Given the description of an element on the screen output the (x, y) to click on. 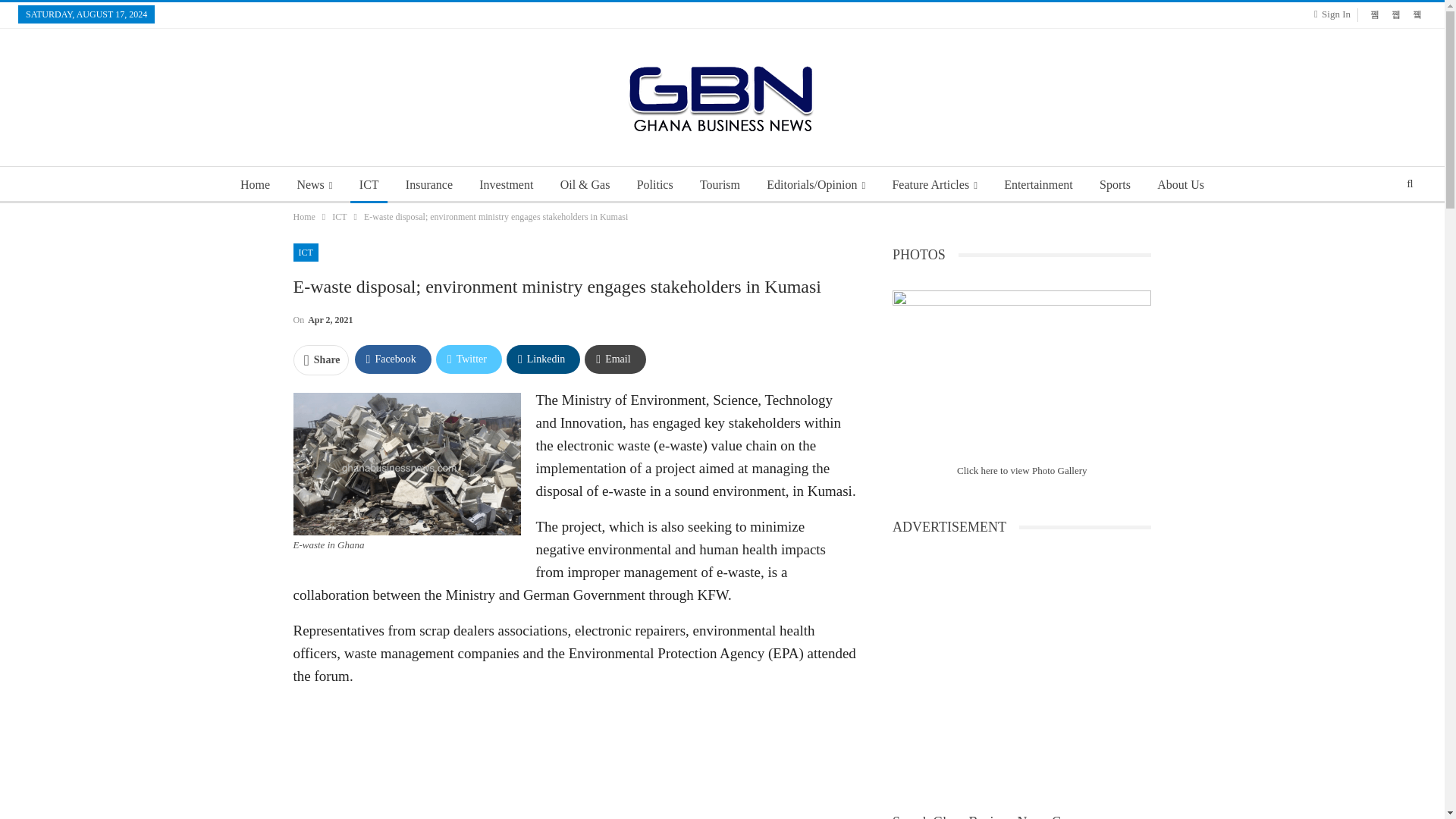
Click here to view Photo Gallery (1021, 470)
Tourism (719, 185)
Entertainment (1037, 185)
ICT (369, 185)
Home (255, 185)
Feature Articles (934, 185)
Sign In (1335, 13)
Facebook (392, 358)
Politics (654, 185)
Twitter (468, 358)
